Given the description of an element on the screen output the (x, y) to click on. 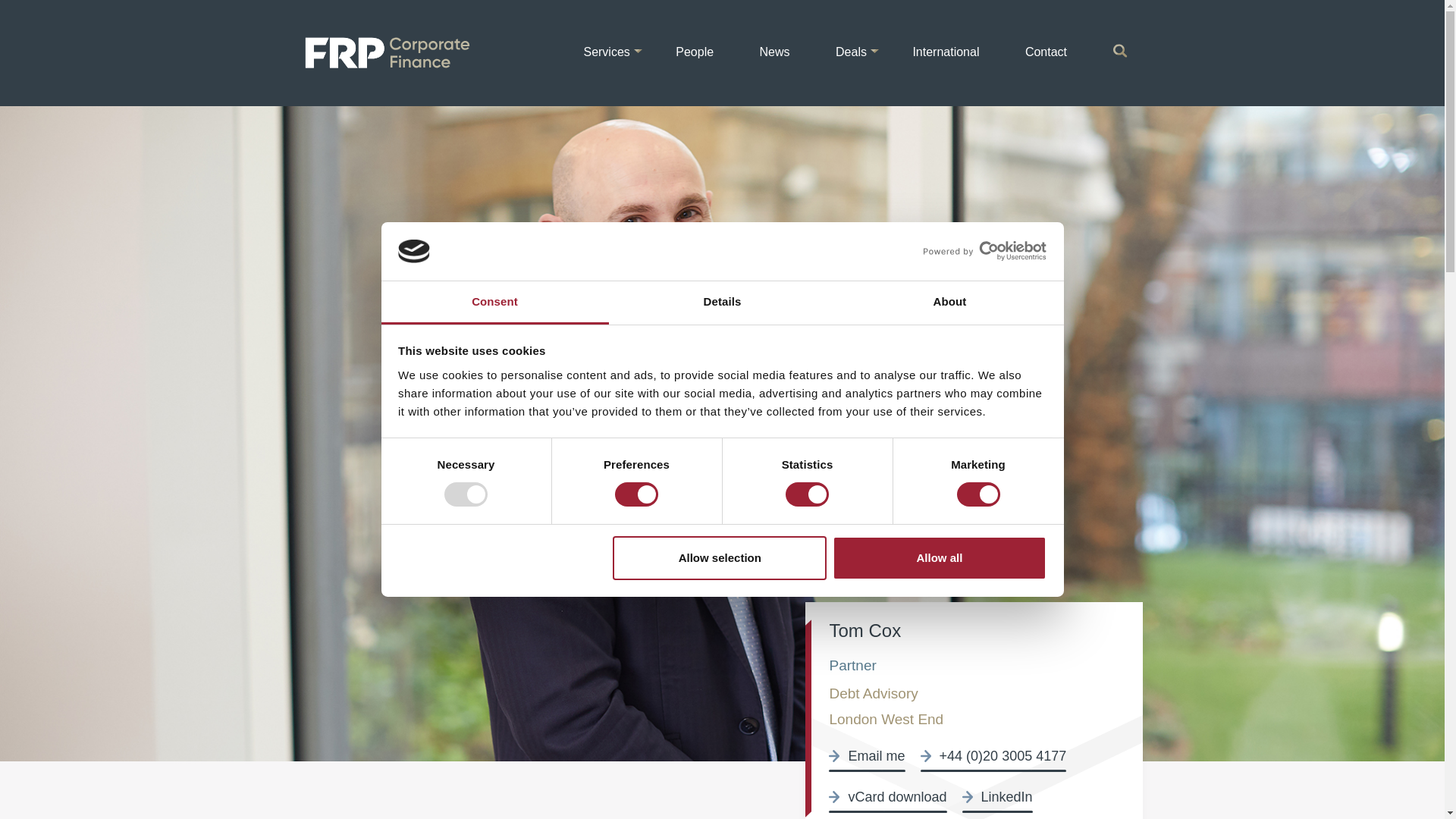
About (948, 302)
Consent (494, 302)
Details (721, 302)
